Given the description of an element on the screen output the (x, y) to click on. 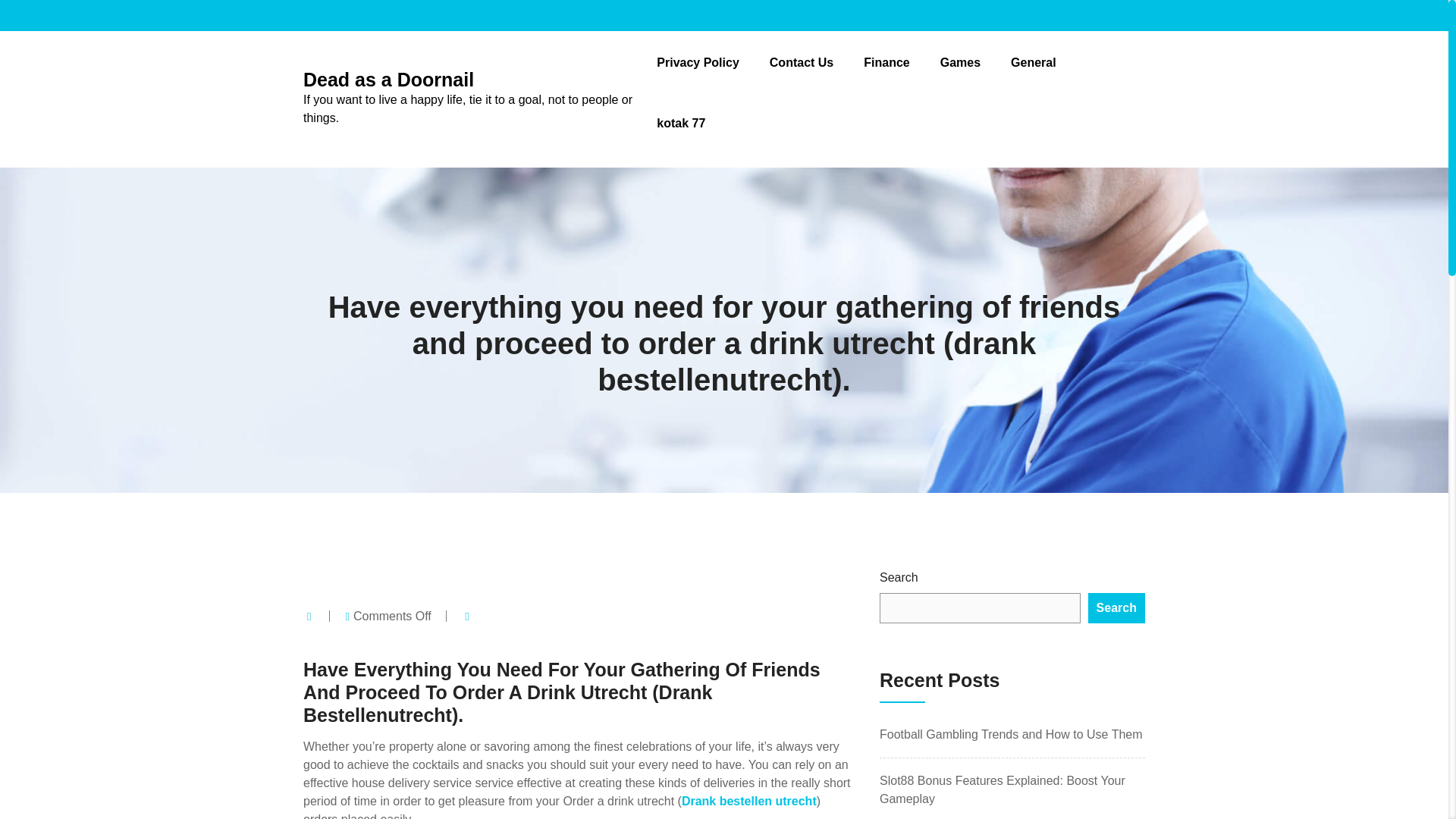
Drank bestellen utrecht (748, 800)
Contact Us (801, 62)
Search (1115, 607)
Privacy Policy (697, 62)
Slot88 Bonus Features Explained: Boost Your Gameplay (1002, 789)
General (1033, 62)
Football Gambling Trends and How to Use Them (1010, 734)
kotak 77 (680, 123)
Finance (885, 62)
